Given the description of an element on the screen output the (x, y) to click on. 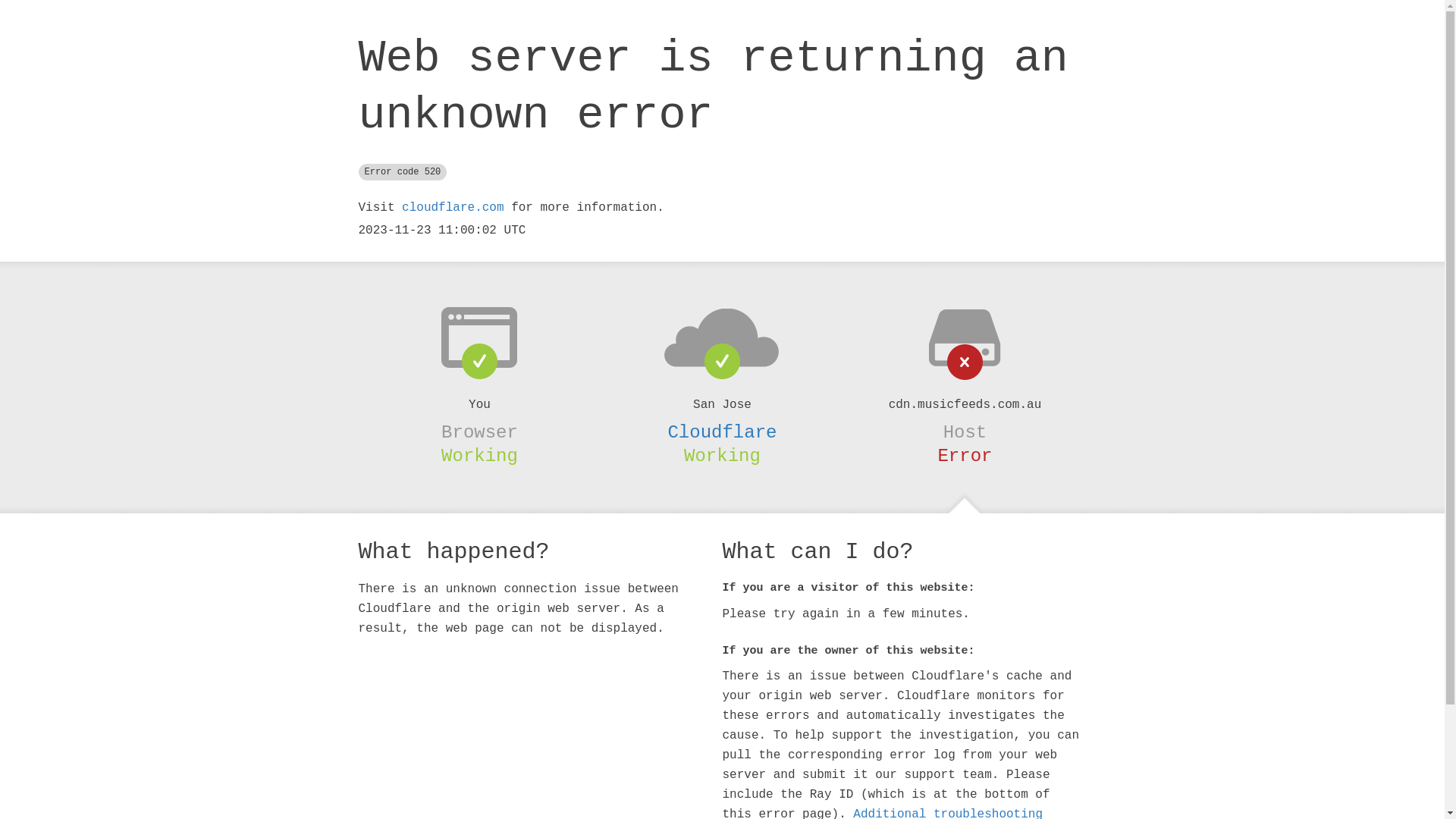
Cloudflare Element type: text (721, 432)
cloudflare.com Element type: text (452, 207)
